Given the description of an element on the screen output the (x, y) to click on. 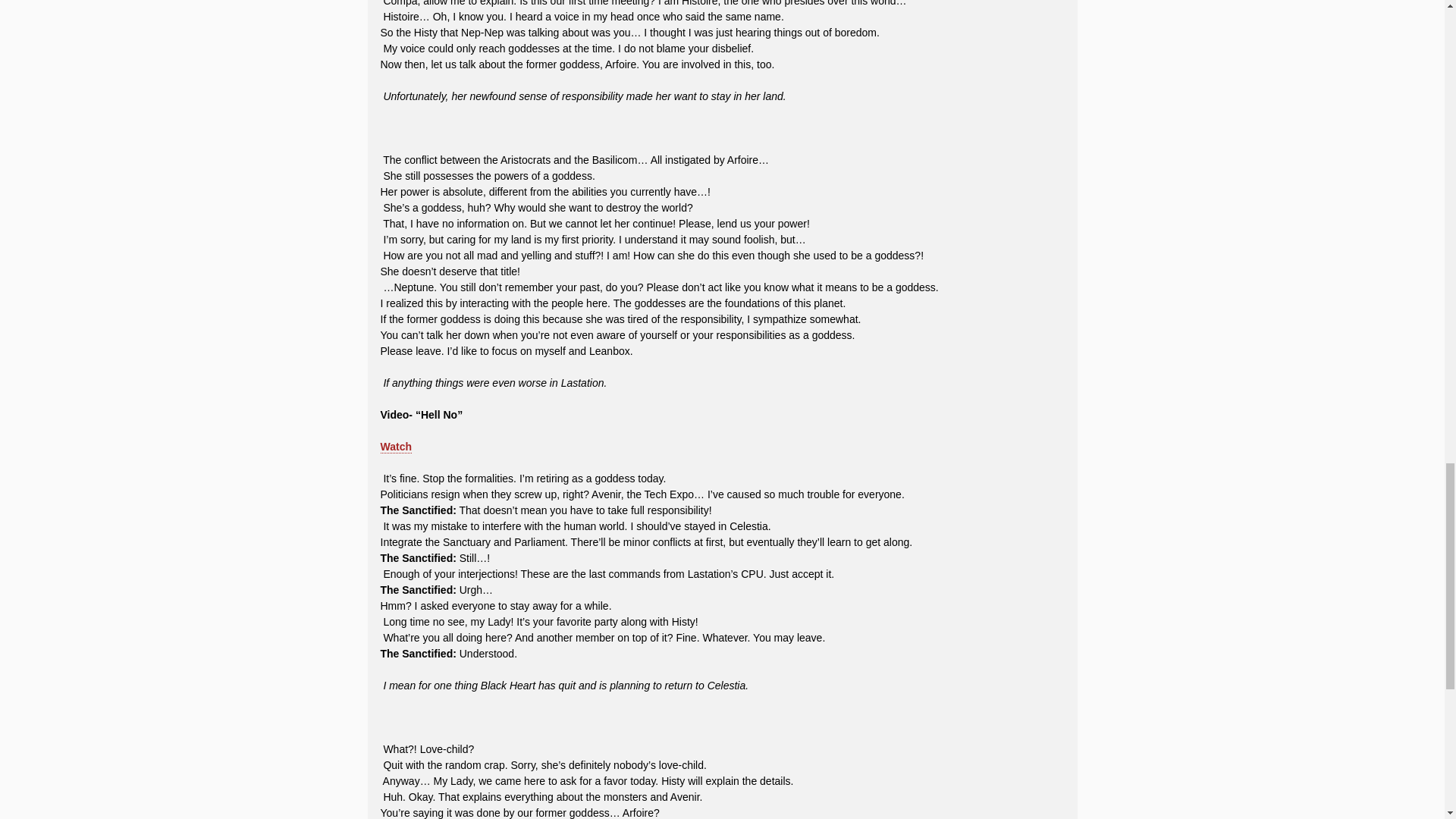
Watch (396, 454)
